Given the description of an element on the screen output the (x, y) to click on. 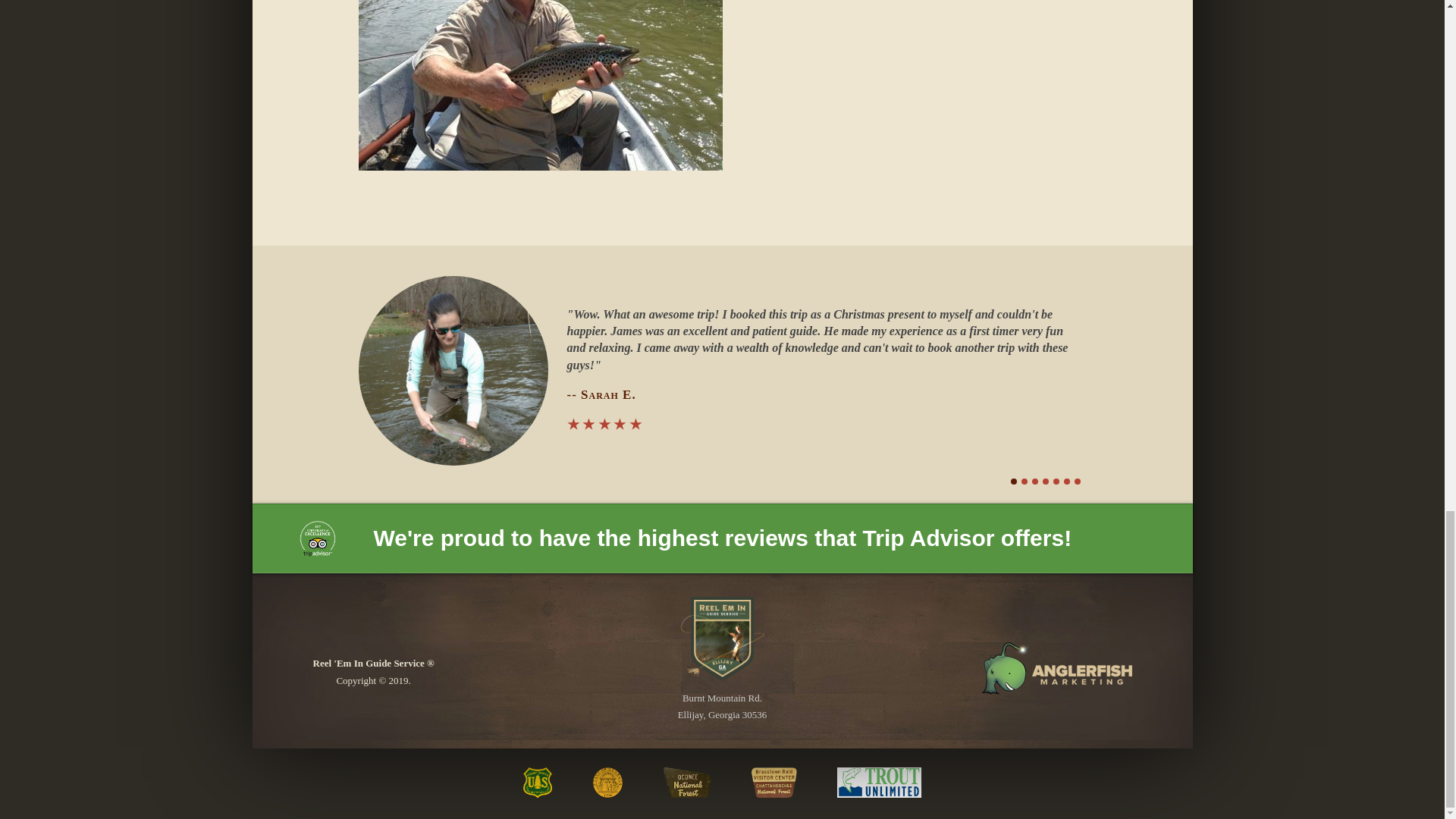
Angler Fish Marketing (1055, 667)
